Given the description of an element on the screen output the (x, y) to click on. 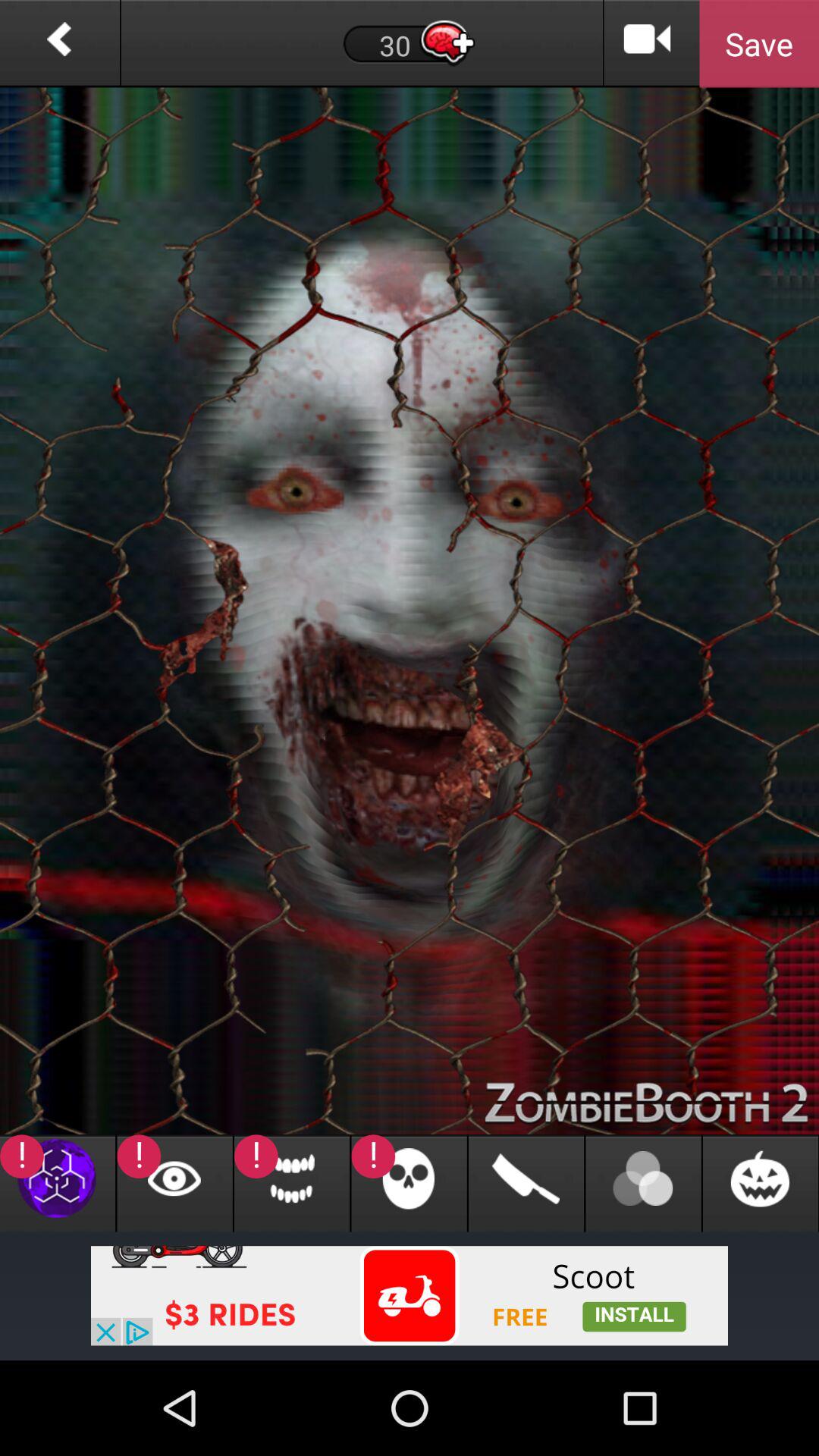
go to video (647, 43)
